Given the description of an element on the screen output the (x, y) to click on. 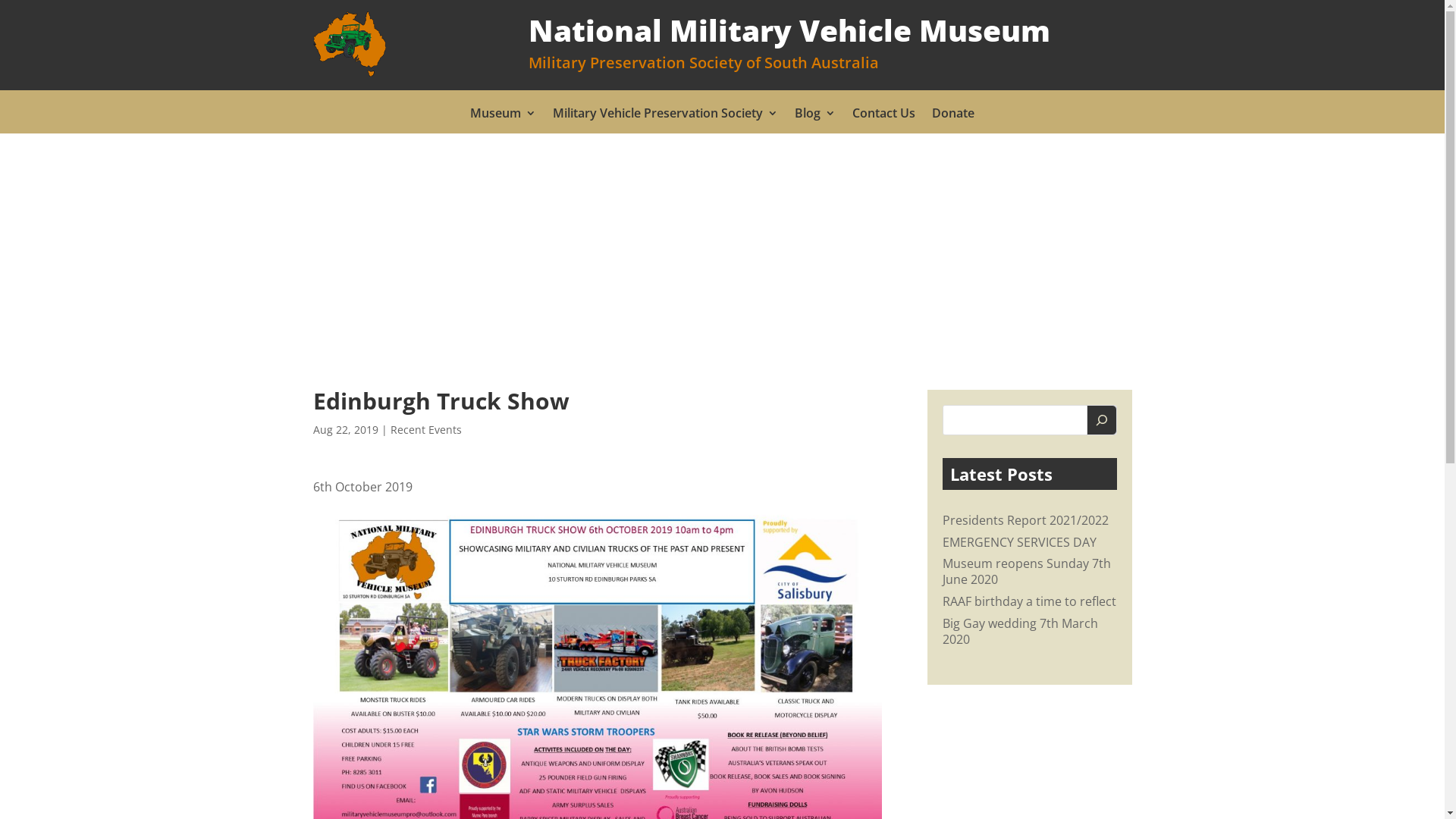
EMERGENCY SERVICES DAY Element type: text (1018, 541)
Big Gay wedding 7th March 2020 Element type: text (1019, 631)
Contact Us Element type: text (883, 115)
Museum reopens Sunday 7th June 2020 Element type: text (1025, 571)
Recent Events Element type: text (425, 429)
Donate Element type: text (952, 115)
Blog Element type: text (814, 115)
National Military Vehicle Museum Element type: hover (348, 43)
Presidents Report 2021/2022 Element type: text (1024, 519)
Military Vehicle Preservation Society Element type: text (665, 115)
RAAF birthday a time to reflect Element type: text (1028, 601)
Museum Element type: text (503, 115)
